Given the description of an element on the screen output the (x, y) to click on. 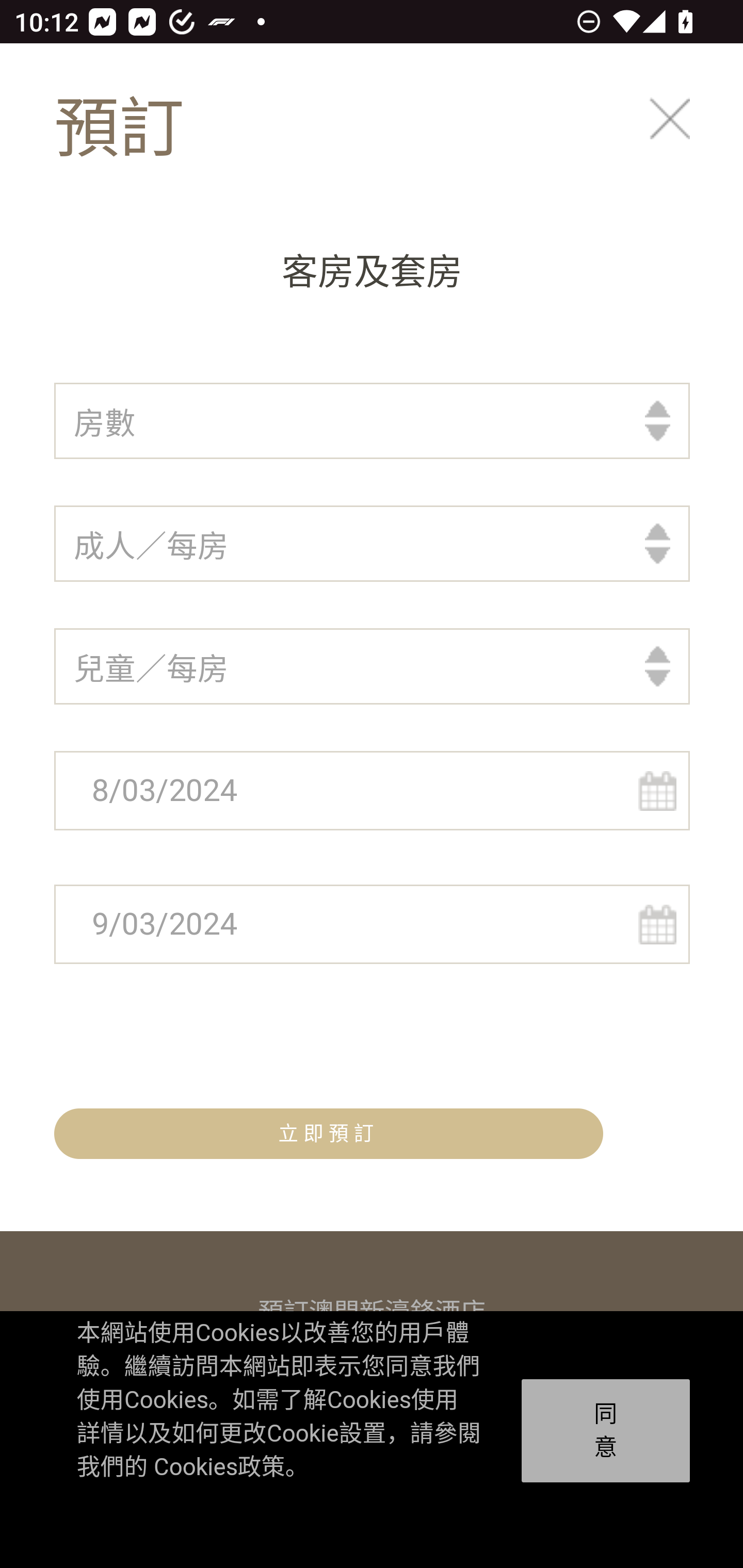
Logo (140, 129)
ico_menu (687, 130)
8/03/2024 (372, 791)
9/03/2024 (372, 924)
立即預訂 (328, 1134)
同意 (605, 1431)
Cookies政策 (218, 1467)
